Given the description of an element on the screen output the (x, y) to click on. 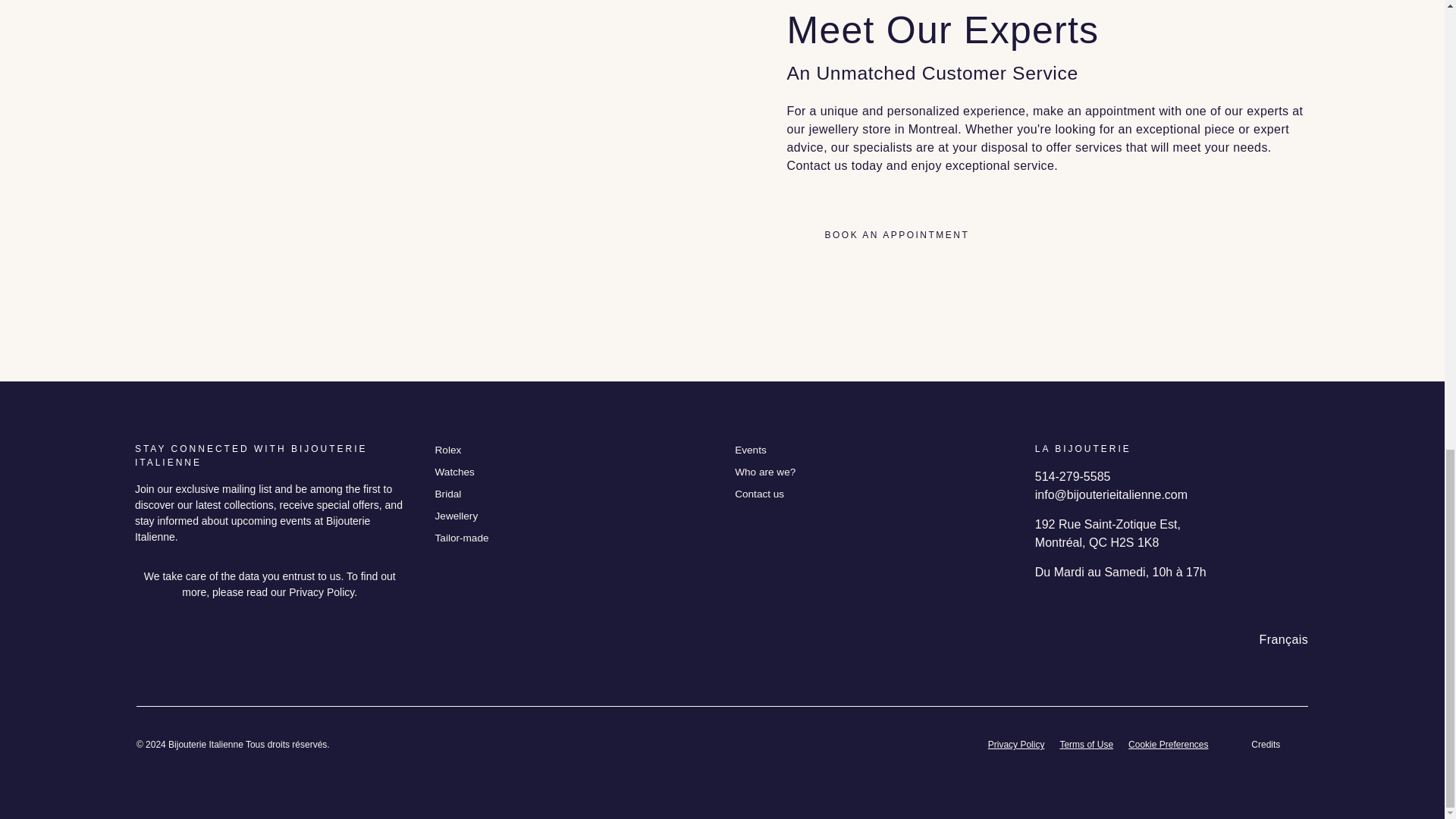
Bijouterie Italienne on Facebook (143, 639)
Bijouterie Italienne on Instagram (178, 639)
Bijouterie Italienne on LinkedIn (213, 639)
